Given the description of an element on the screen output the (x, y) to click on. 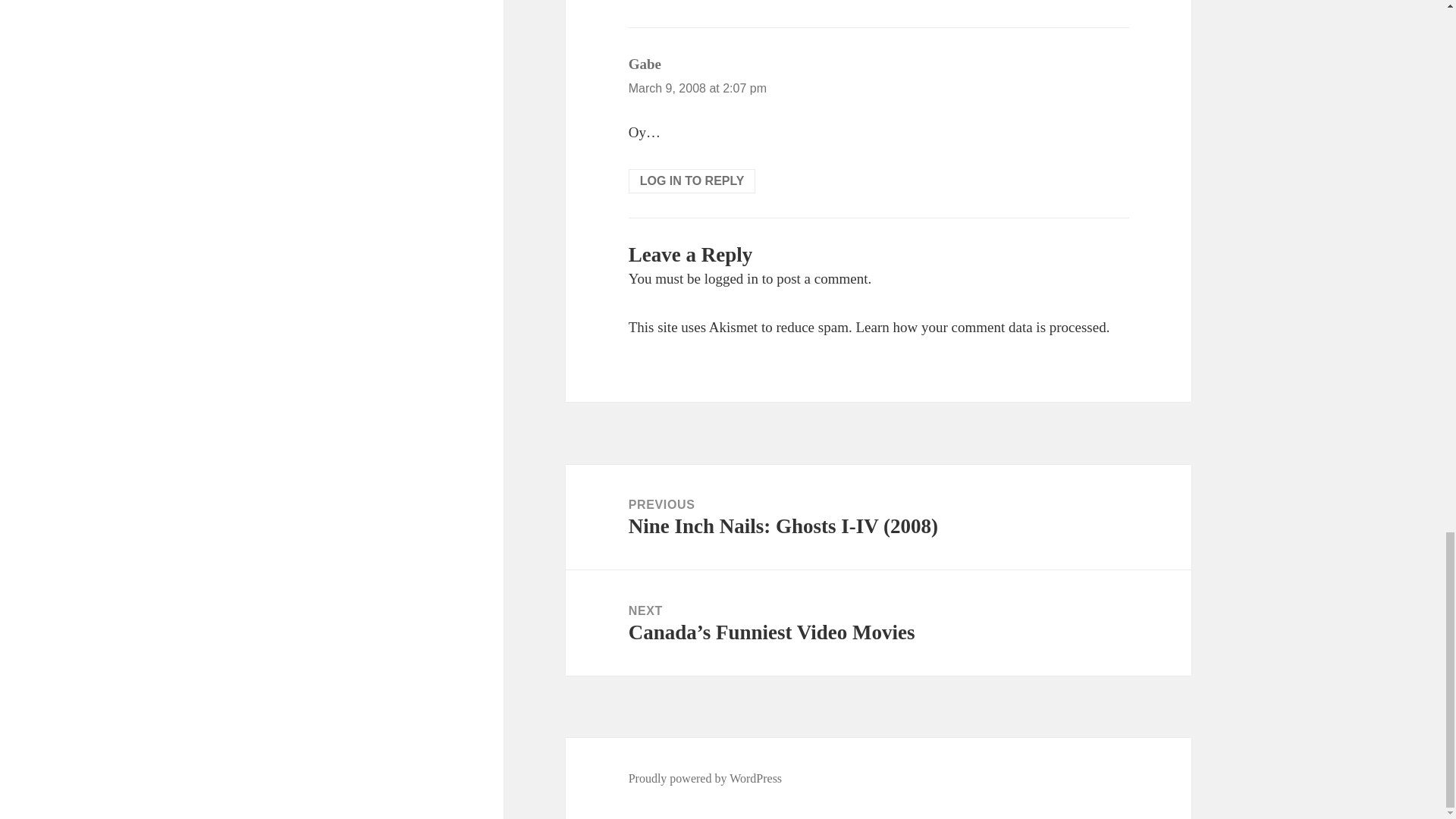
logged in (731, 278)
March 9, 2008 at 2:07 pm (697, 88)
Learn how your comment data is processed (980, 326)
LOG IN TO REPLY (691, 180)
Proudly powered by WordPress (704, 778)
